Given the description of an element on the screen output the (x, y) to click on. 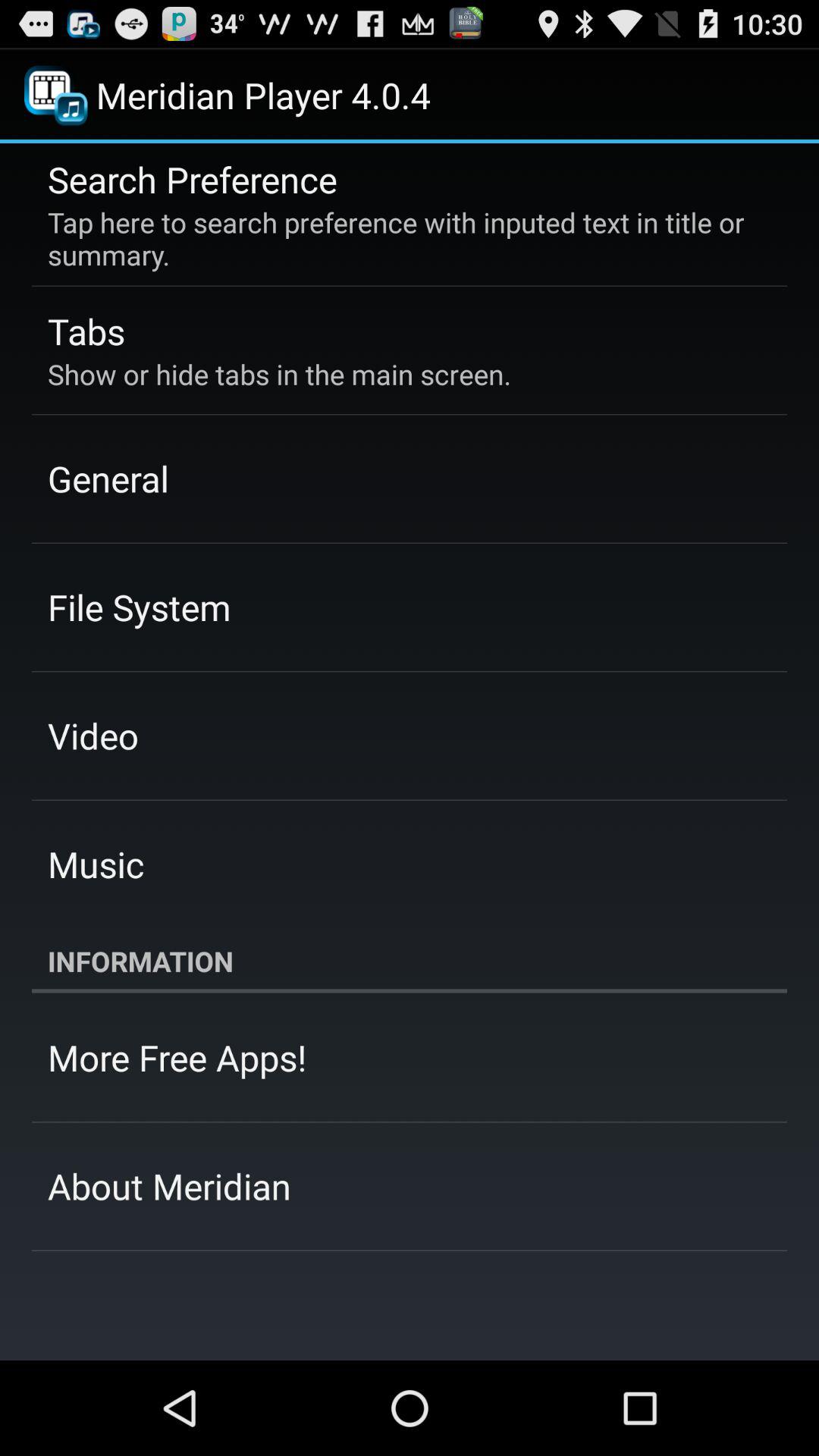
turn on the video icon (92, 735)
